Given the description of an element on the screen output the (x, y) to click on. 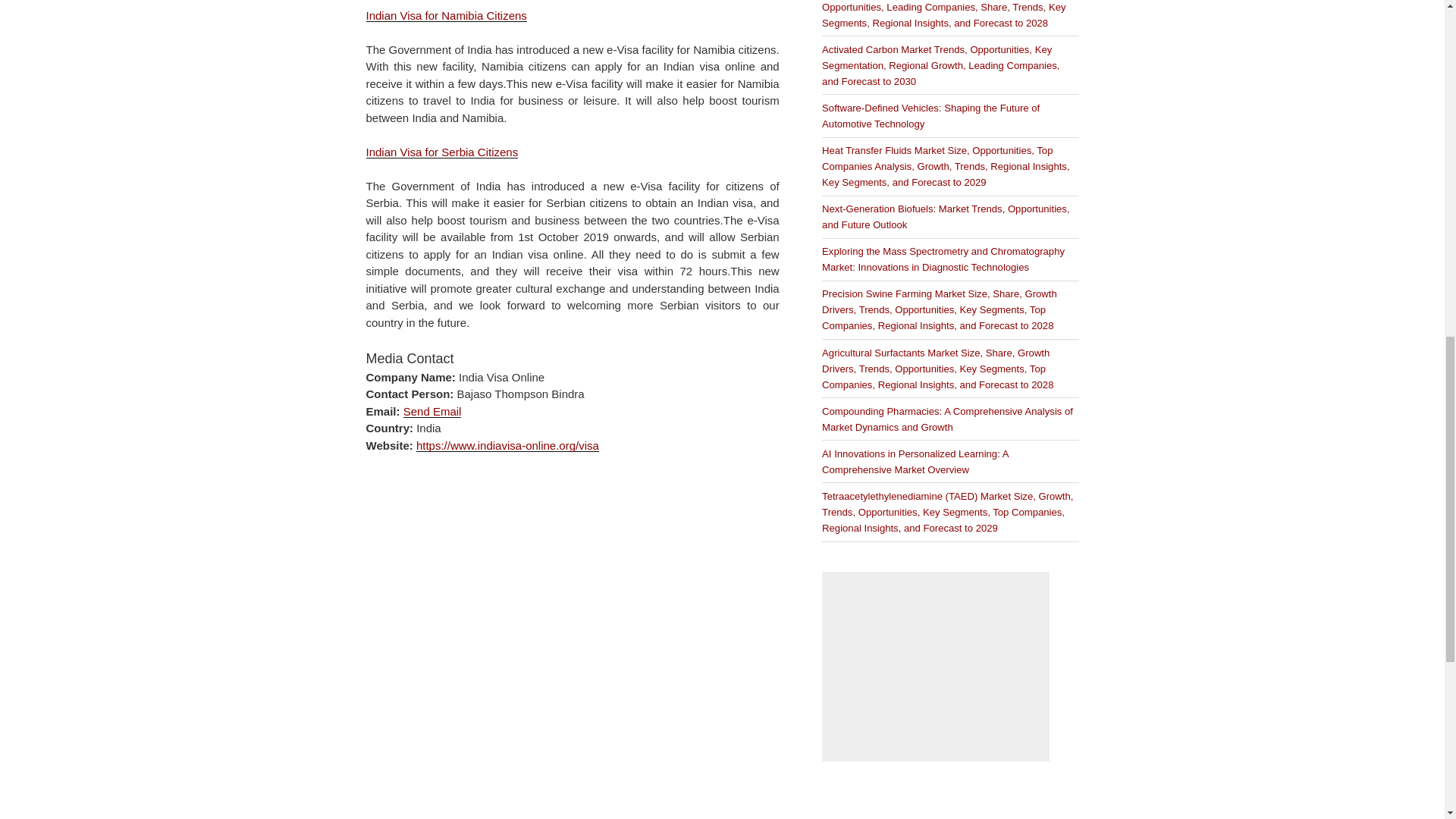
Indian Visa for Serbia Citizens (441, 151)
Advertisement (935, 666)
Indian Visa for Namibia Citizens (445, 15)
